Given the description of an element on the screen output the (x, y) to click on. 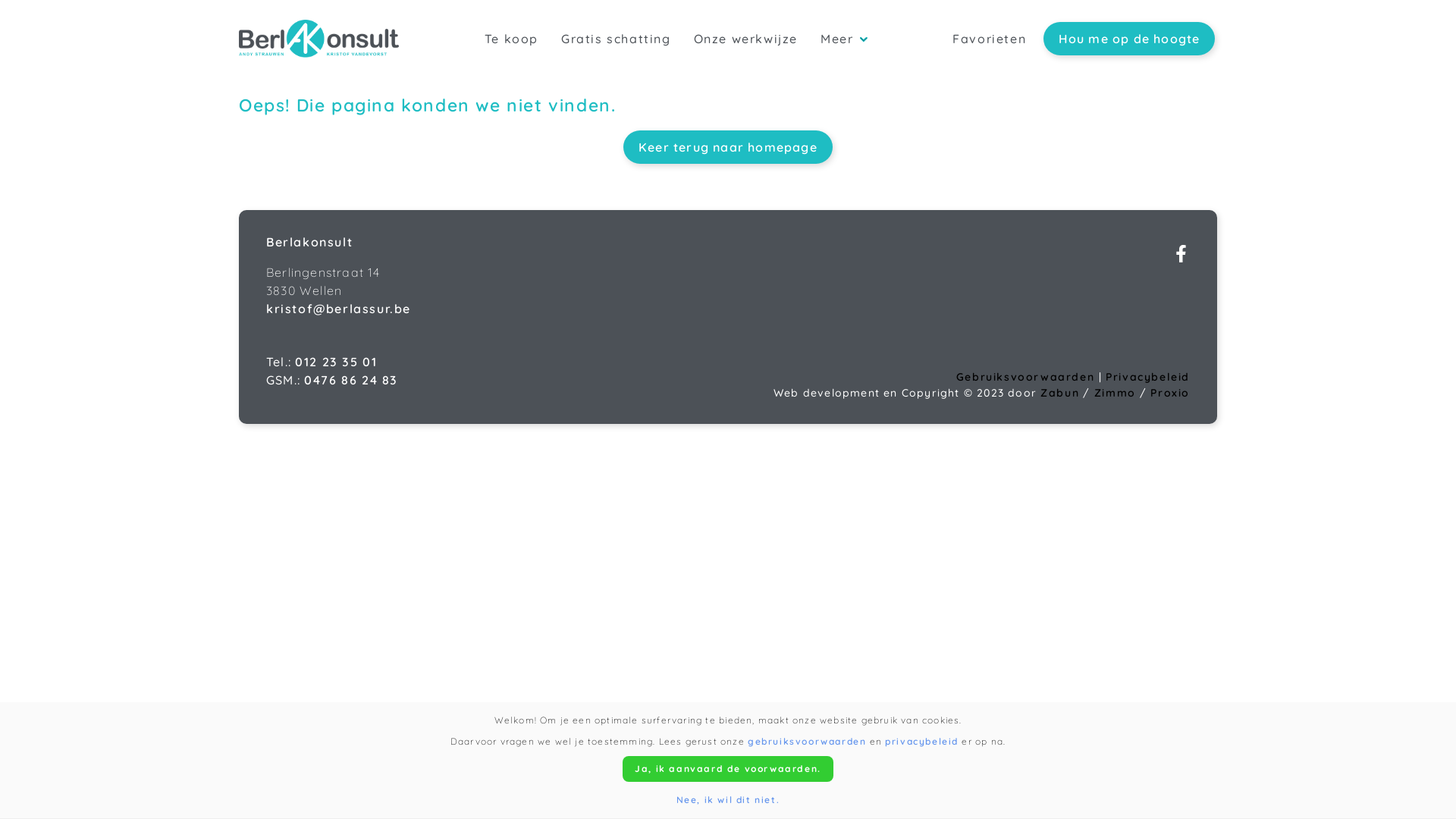
Onze werkwijze
(Onze werkwijze) Element type: text (745, 38)
Gratis schatting
(Gratis schatting) Element type: text (616, 38)
privacybeleid Element type: text (921, 740)
Te koop
(Te koop) Element type: text (511, 38)
Zabun Element type: text (1059, 392)
Ja, ik aanvaard de voorwaarden. Element type: text (727, 768)
Keer terug naar homepage Element type: text (727, 146)
Proxio Element type: text (1169, 392)
012 23 35 01 Element type: text (335, 361)
0476 86 24 83 Element type: text (351, 379)
Hou me op de hoogte Element type: text (1129, 38)
Privacybeleid Element type: text (1147, 376)
kristof@berlassur.be Element type: text (338, 308)
Zimmo Element type: text (1114, 392)
Favorieten Element type: text (989, 38)
Gebruiksvoorwaarden Element type: text (1027, 376)
gebruiksvoorwaarden Element type: text (806, 740)
Nee, ik wil dit niet. Element type: text (728, 799)
Meer Element type: text (843, 38)
